Given the description of an element on the screen output the (x, y) to click on. 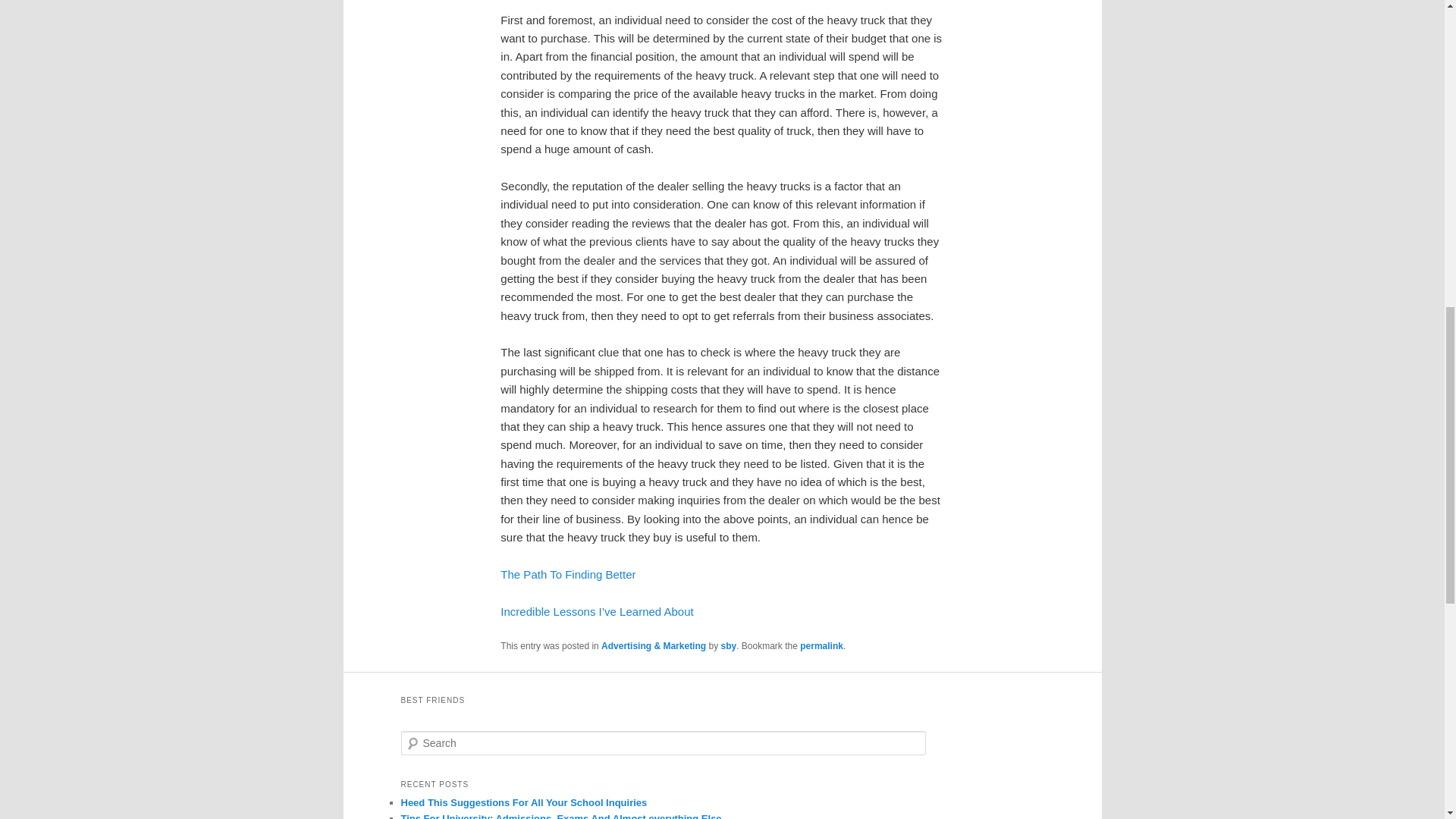
Heed This Suggestions For All Your School Inquiries (523, 802)
permalink (821, 645)
Permalink to What Almost No One Knows About (821, 645)
sby (728, 645)
The Path To Finding Better (567, 574)
